Given the description of an element on the screen output the (x, y) to click on. 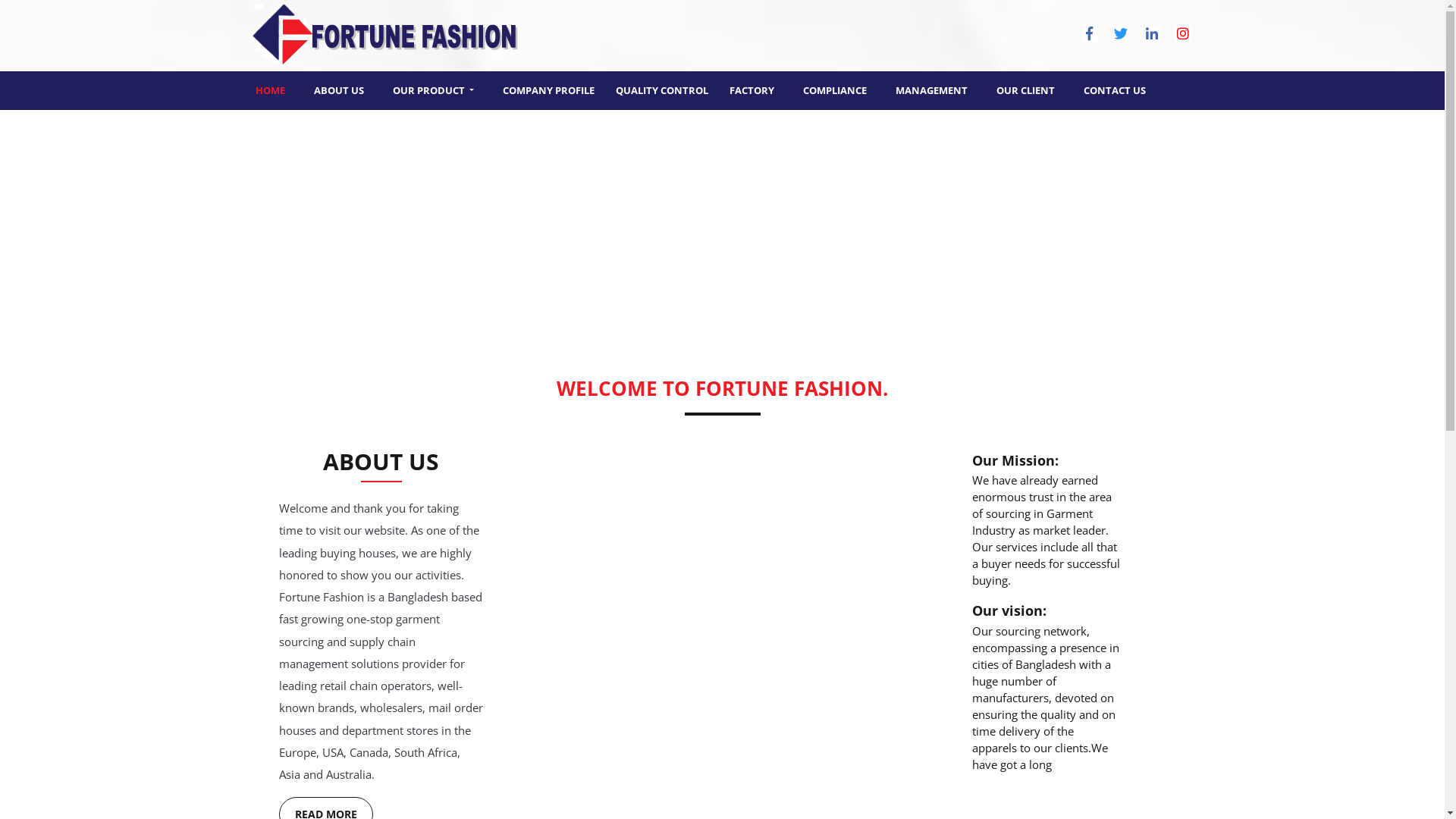
OUR CLIENT Element type: text (1025, 90)
ABOUT US Element type: text (338, 90)
QUALITY CONTROL Element type: text (661, 90)
COMPANY PROFILE Element type: text (548, 90)
HOME Element type: text (269, 90)
FACTORY Element type: text (751, 90)
CONTACT US Element type: text (1114, 90)
COMPLIANCE Element type: text (834, 90)
OUR PRODUCT Element type: text (432, 90)
MANAGEMENT Element type: text (931, 90)
